Given the description of an element on the screen output the (x, y) to click on. 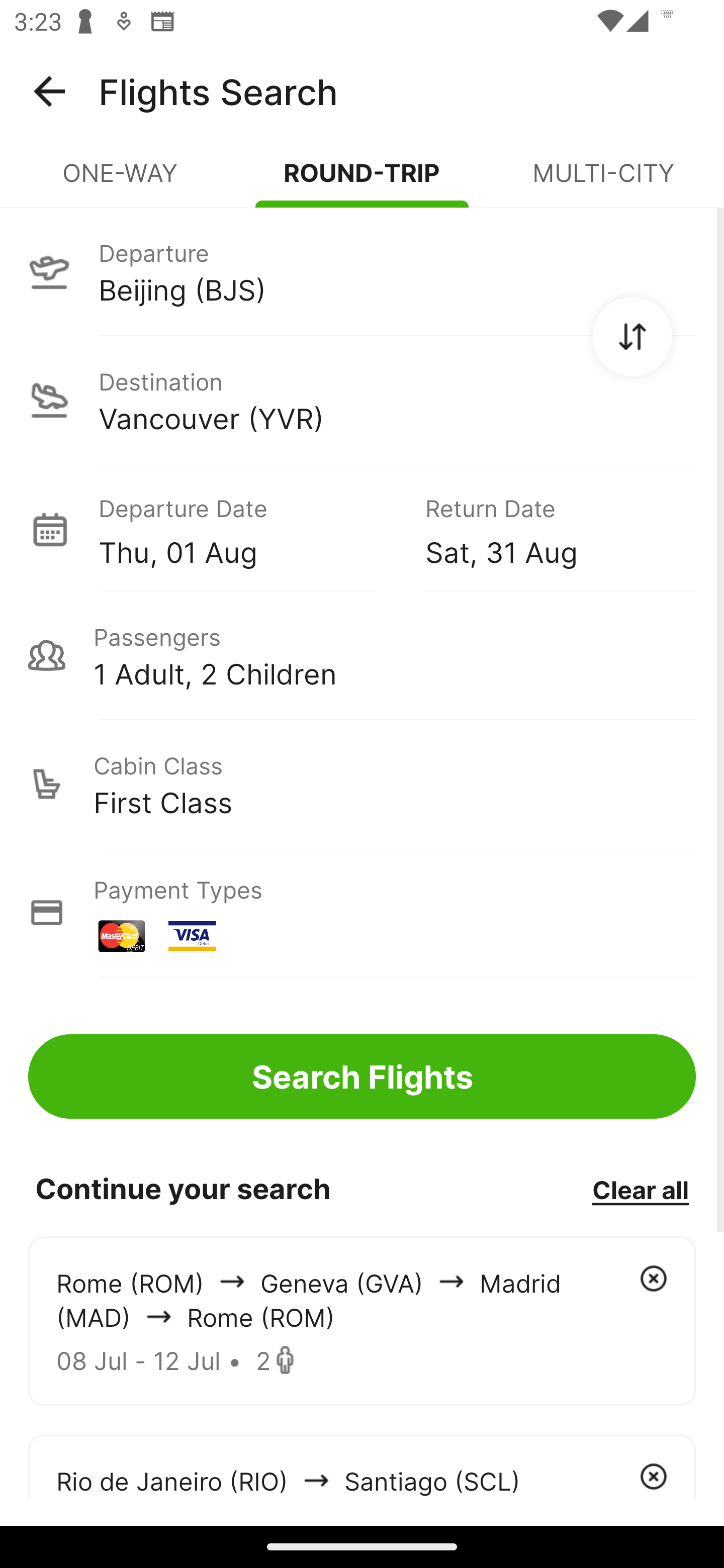
ONE-WAY (120, 180)
ROUND-TRIP (361, 180)
MULTI-CITY (603, 180)
Departure Beijing (BJS) (362, 270)
Destination Vancouver (YVR) (362, 400)
Departure Date Thu, 01 Aug (247, 528)
Return Date Sat, 31 Aug (546, 528)
Passengers 1 Adult, 2 Children (362, 655)
Cabin Class First Class (362, 783)
Payment Types (362, 912)
Search Flights (361, 1075)
Clear all (640, 1189)
Rio de Janeiro (RIO)  arrowIcon  Santiago (SCL) (361, 1465)
